Given the description of an element on the screen output the (x, y) to click on. 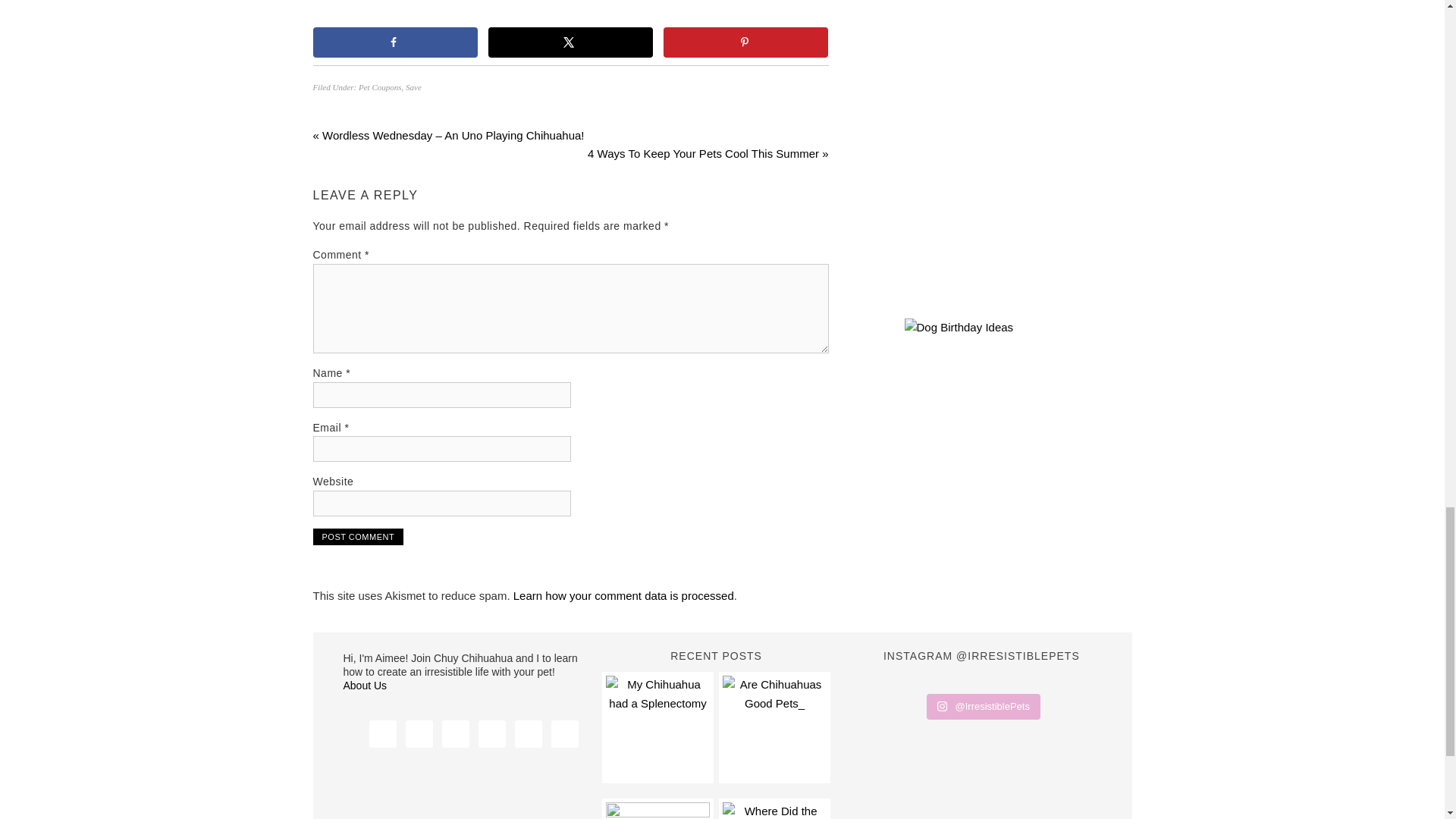
Learn how your comment data is processed (623, 594)
Pet Coupons (379, 86)
Save to Pinterest (745, 42)
My Chihuahua Had a Splenectomy (657, 726)
Save (414, 86)
Post Comment (358, 536)
Are Chihuahuas Good Pets? (773, 726)
Share on Facebook (395, 42)
Where Did the Chihuahua Originate? (773, 810)
About Us (364, 685)
Post Comment (358, 536)
Share on X (570, 42)
